Given the description of an element on the screen output the (x, y) to click on. 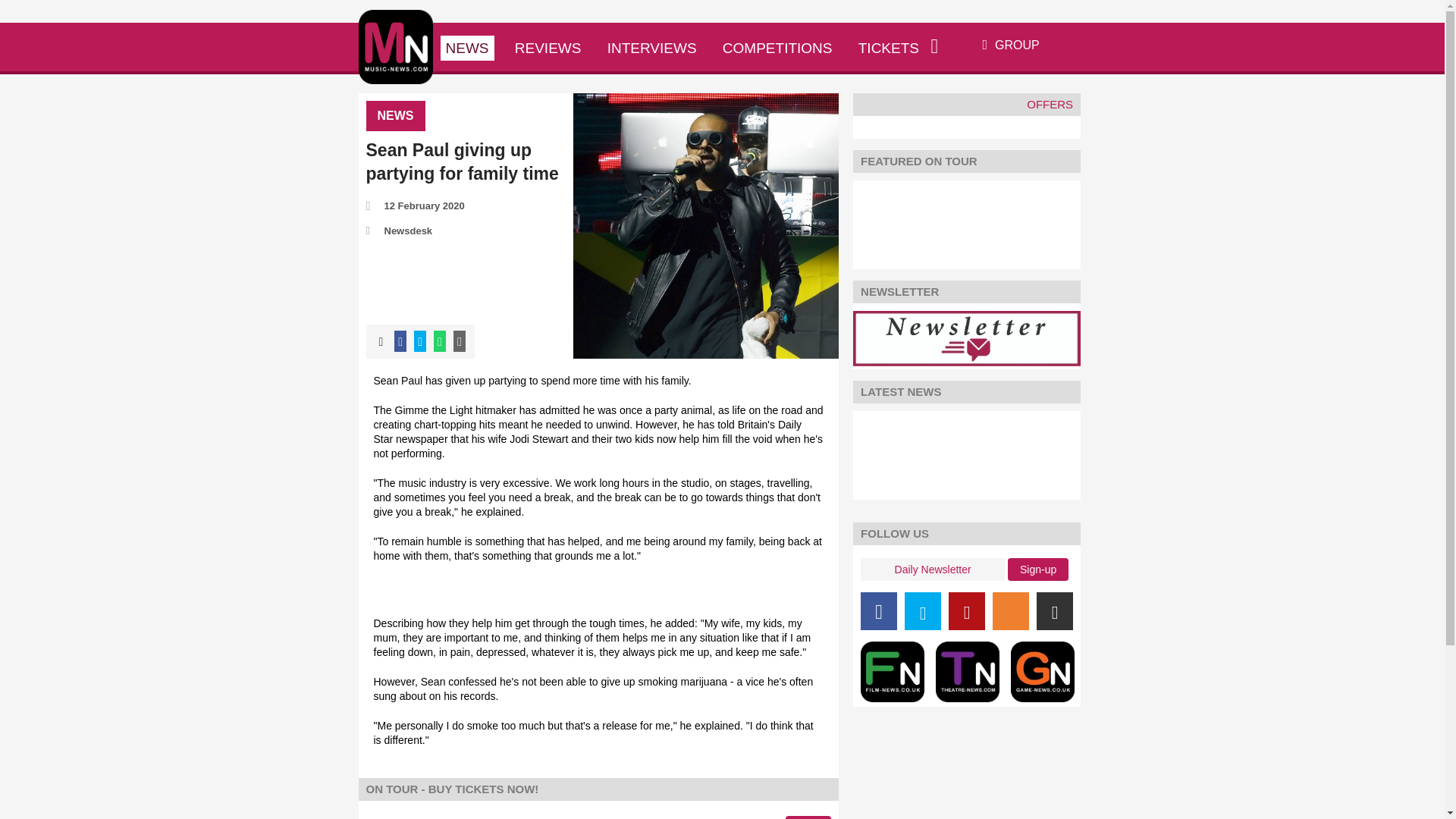
TICKETS (888, 49)
INTERVIEWS (651, 49)
NEWS (466, 49)
REVIEWS (547, 49)
COMPETITIONS (777, 49)
GROUP (1010, 44)
